Given the description of an element on the screen output the (x, y) to click on. 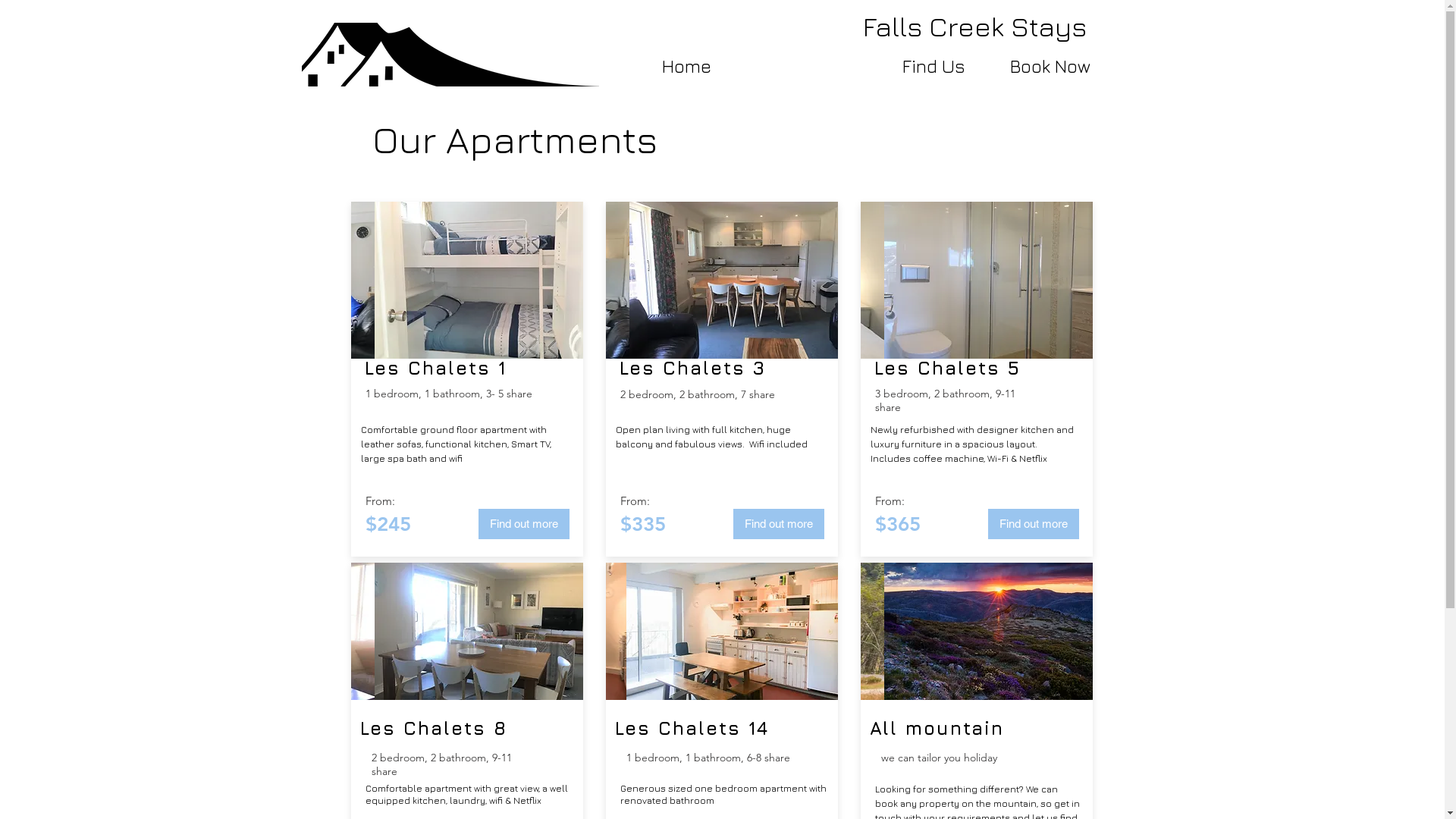
Book Now Element type: text (1049, 66)
Find out more Element type: text (777, 523)
Find out more Element type: text (522, 523)
Falls Creek Stays Element type: text (974, 25)
Chalets Element type: text (699, 727)
Chalets Element type: text (447, 727)
Find out more Element type: text (1032, 523)
Find Us Element type: text (933, 66)
Chalets Element type: text (452, 367)
Home Element type: text (685, 66)
Apartments Element type: text (807, 66)
